Given the description of an element on the screen output the (x, y) to click on. 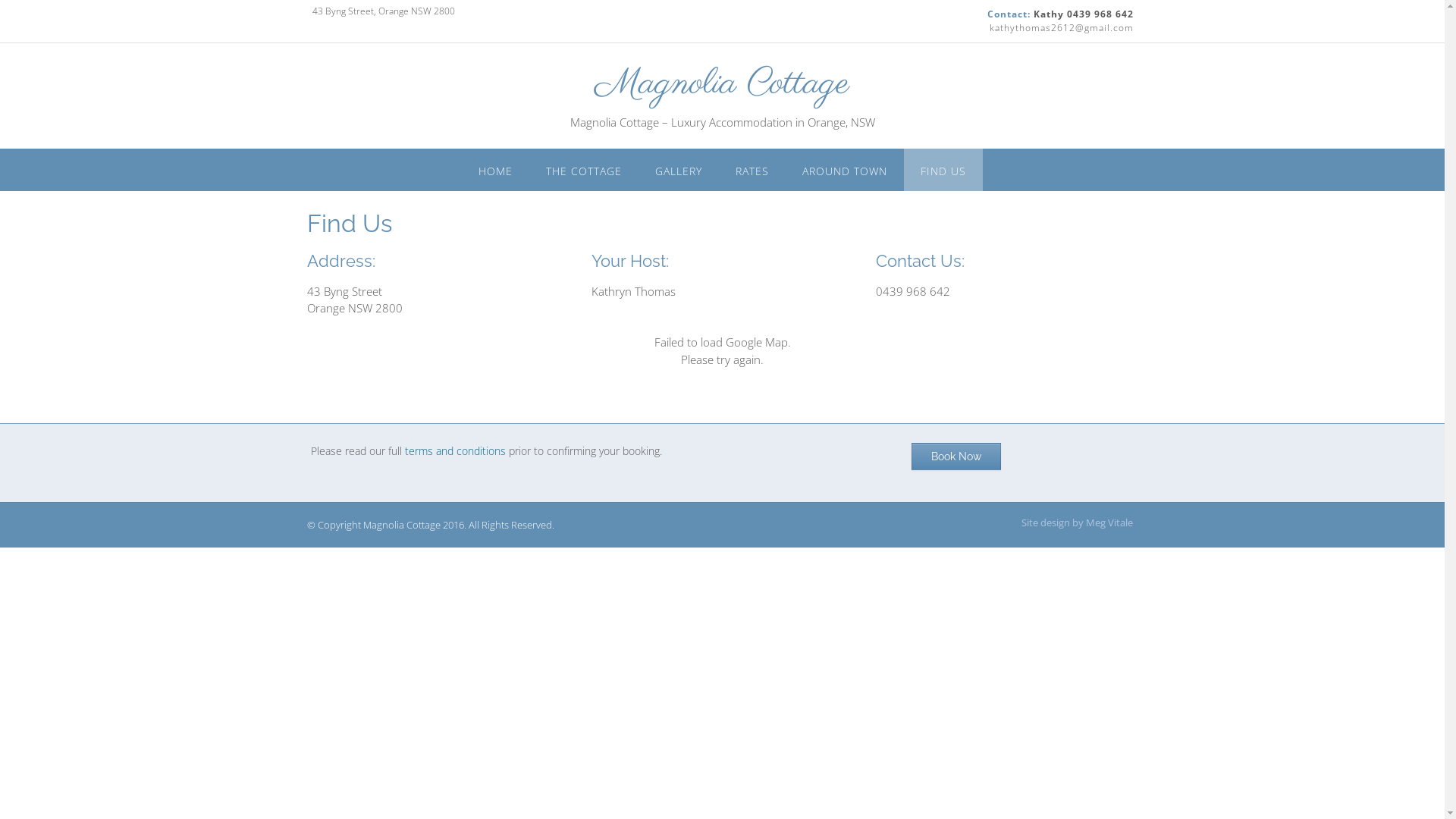
AROUND TOWN Element type: text (844, 169)
Magnolia Cottage Element type: text (722, 83)
RATES Element type: text (751, 169)
kathythomas2612@gmail.com Element type: text (1060, 27)
THE COTTAGE Element type: text (583, 169)
FIND US Element type: text (942, 169)
43 Byng Street, Orange NSW 2800 Element type: text (382, 10)
Book Now Element type: text (956, 456)
GALLERY Element type: text (678, 169)
terms and conditions Element type: text (454, 450)
HOME Element type: text (495, 169)
Site design by Meg Vitale Element type: text (1077, 522)
